Given the description of an element on the screen output the (x, y) to click on. 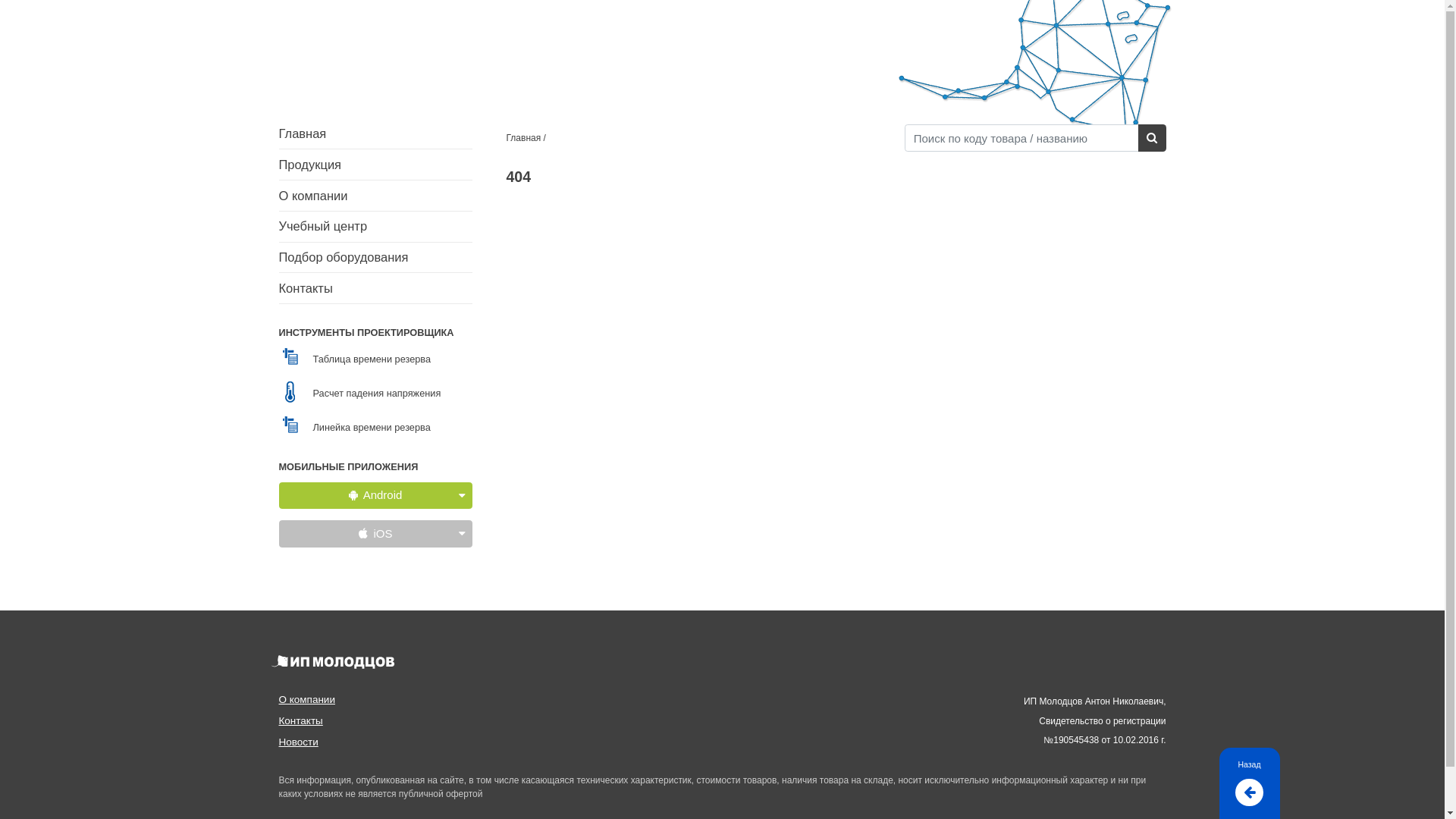
https://bast.by/ Element type: hover (374, 34)
Android Element type: text (375, 495)
iOS Element type: text (375, 533)
